Given the description of an element on the screen output the (x, y) to click on. 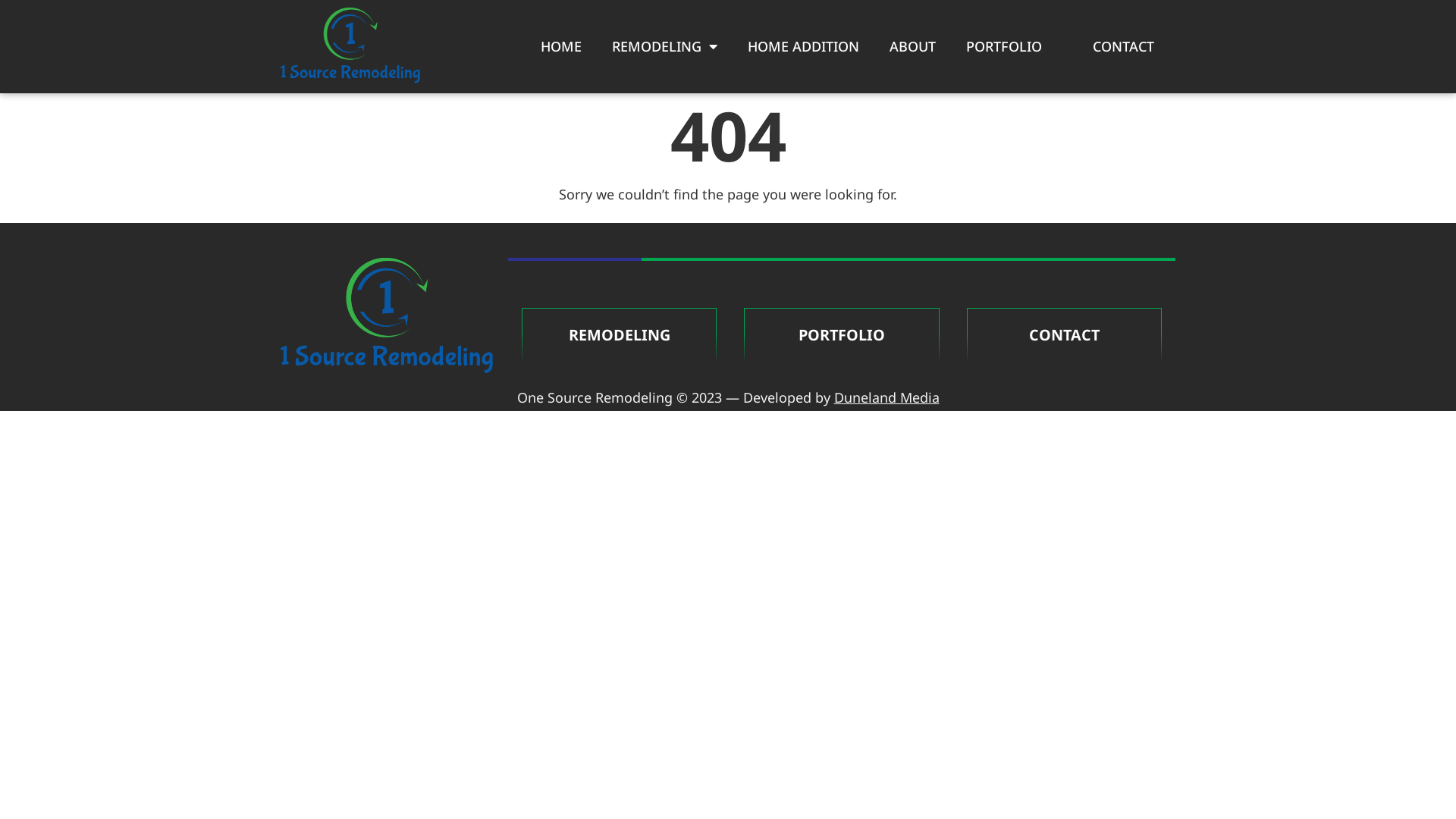
Duneland Media Element type: text (886, 397)
CONTACT Element type: text (1123, 46)
CONTACT Element type: text (1064, 335)
PORTFOLIO Element type: text (841, 335)
PORTFOLIO Element type: text (1003, 45)
REMODELING Element type: text (664, 45)
HOME ADDITION Element type: text (803, 45)
ABOUT Element type: text (912, 45)
HOME Element type: text (560, 45)
REMODELING Element type: text (618, 335)
